Given the description of an element on the screen output the (x, y) to click on. 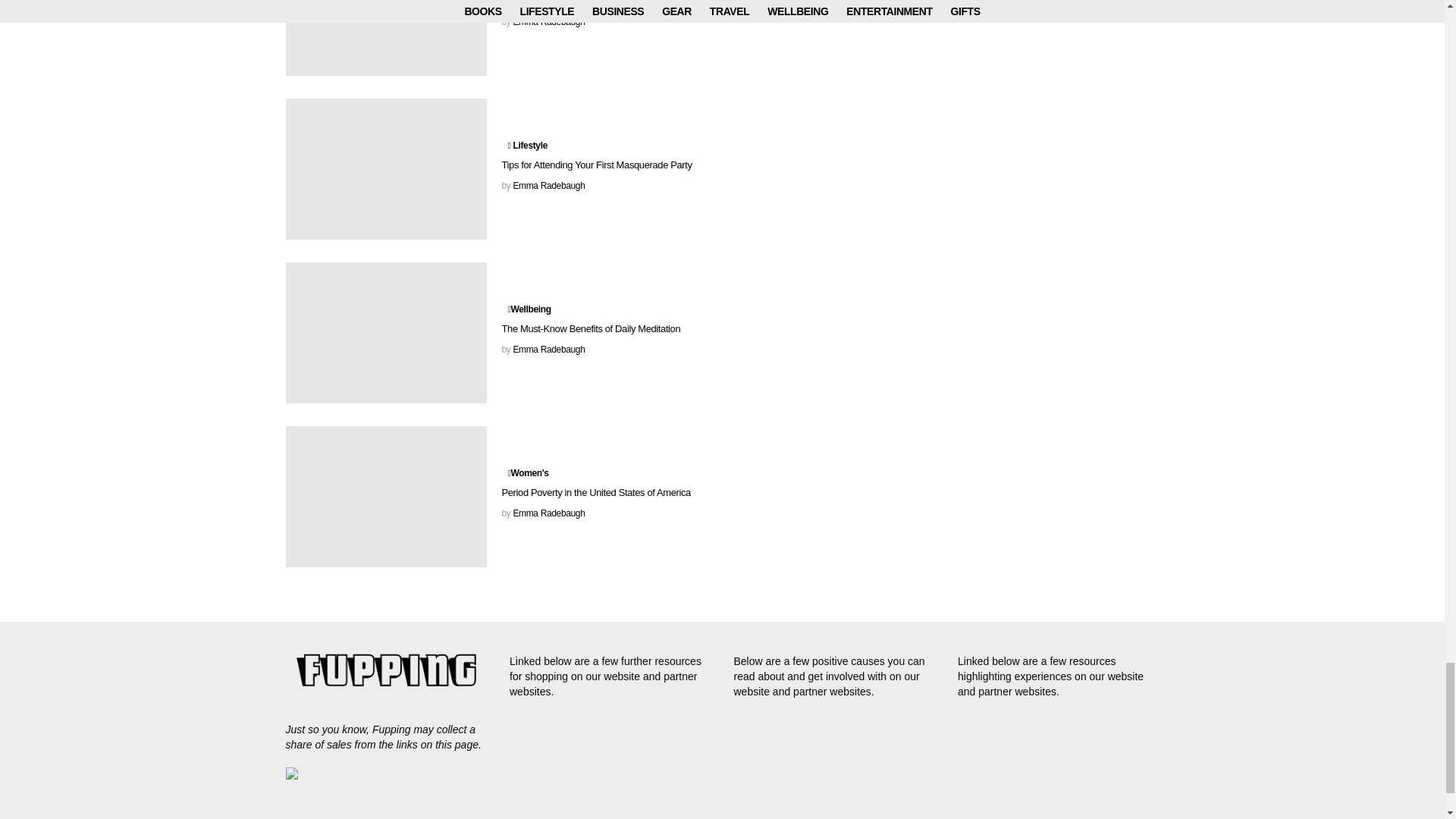
Common Terms Every Off-Roader Should Know (385, 38)
